Given the description of an element on the screen output the (x, y) to click on. 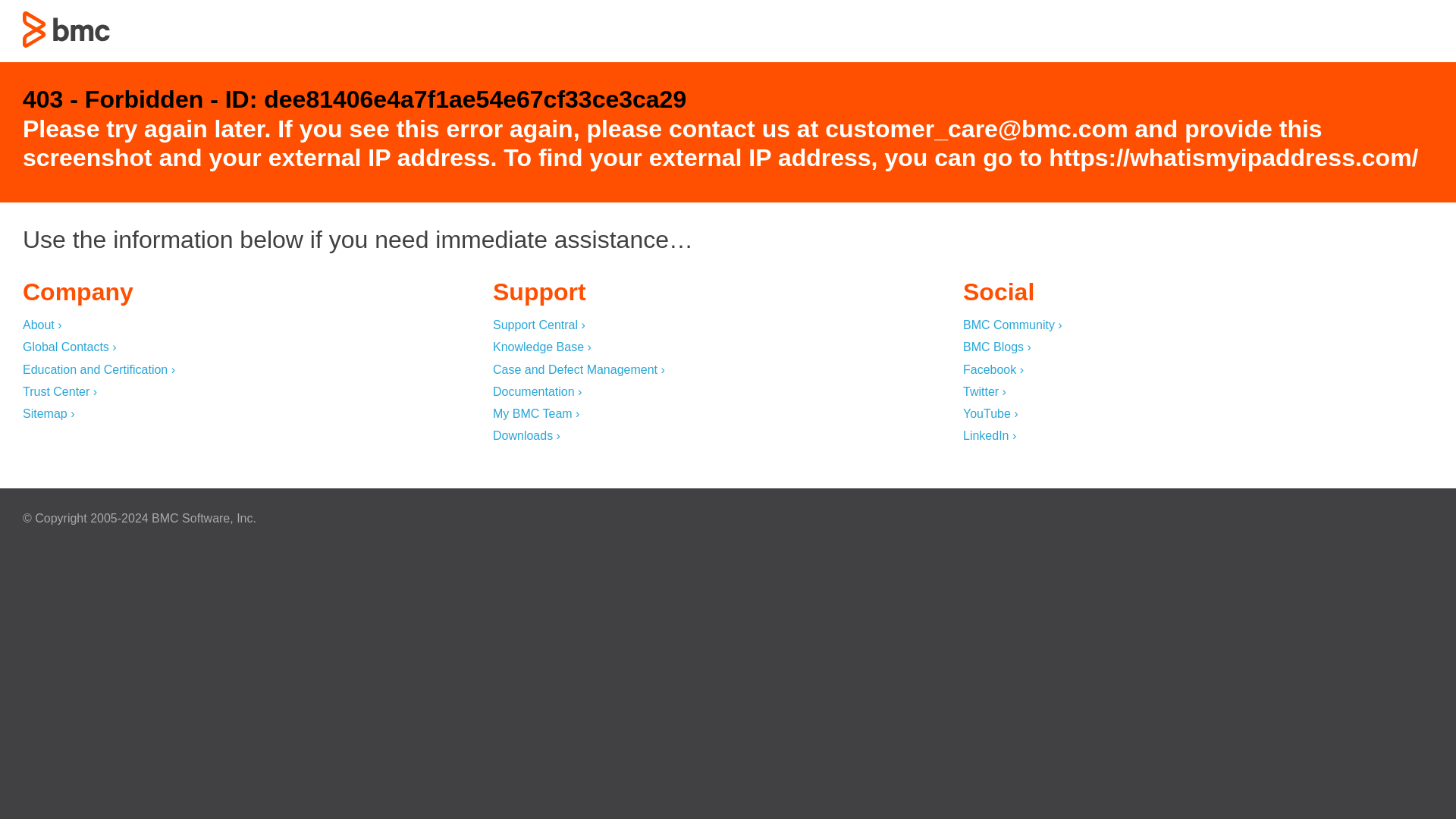
403 - Forbidden (66, 29)
